Given the description of an element on the screen output the (x, y) to click on. 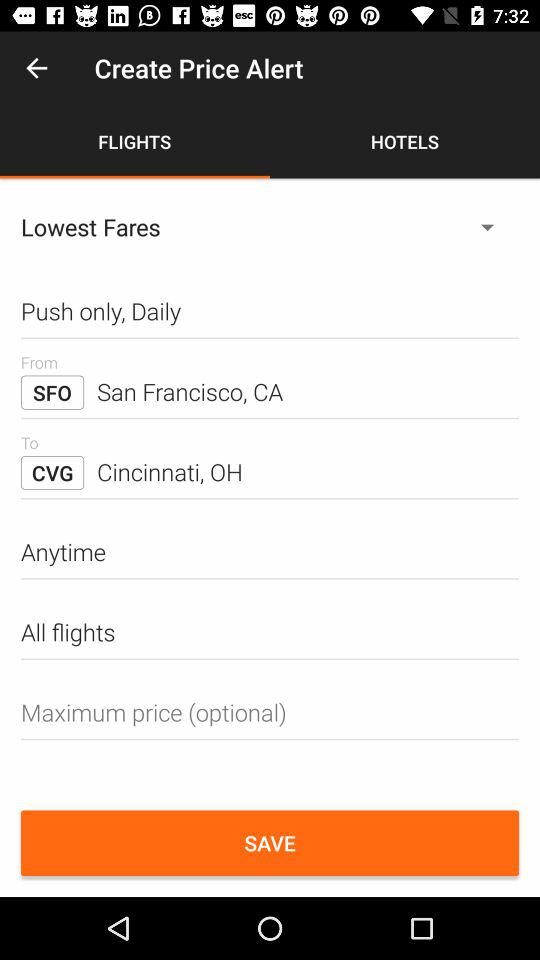
fill the maximum price (270, 712)
